Given the description of an element on the screen output the (x, y) to click on. 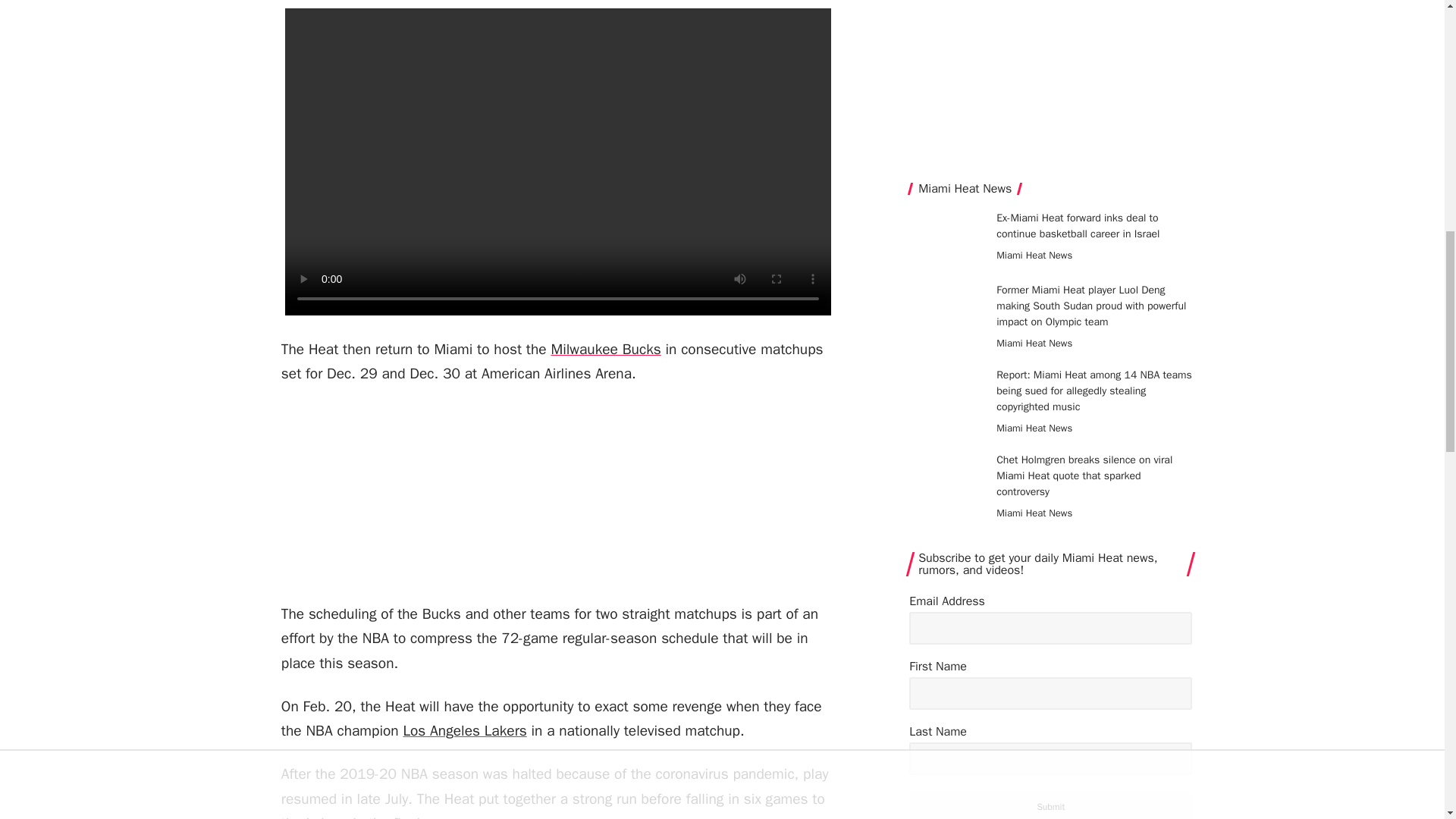
Milwaukee Bucks (605, 348)
Milwaukee Bucks (605, 348)
Los Angeles Lakers (464, 730)
